Given the description of an element on the screen output the (x, y) to click on. 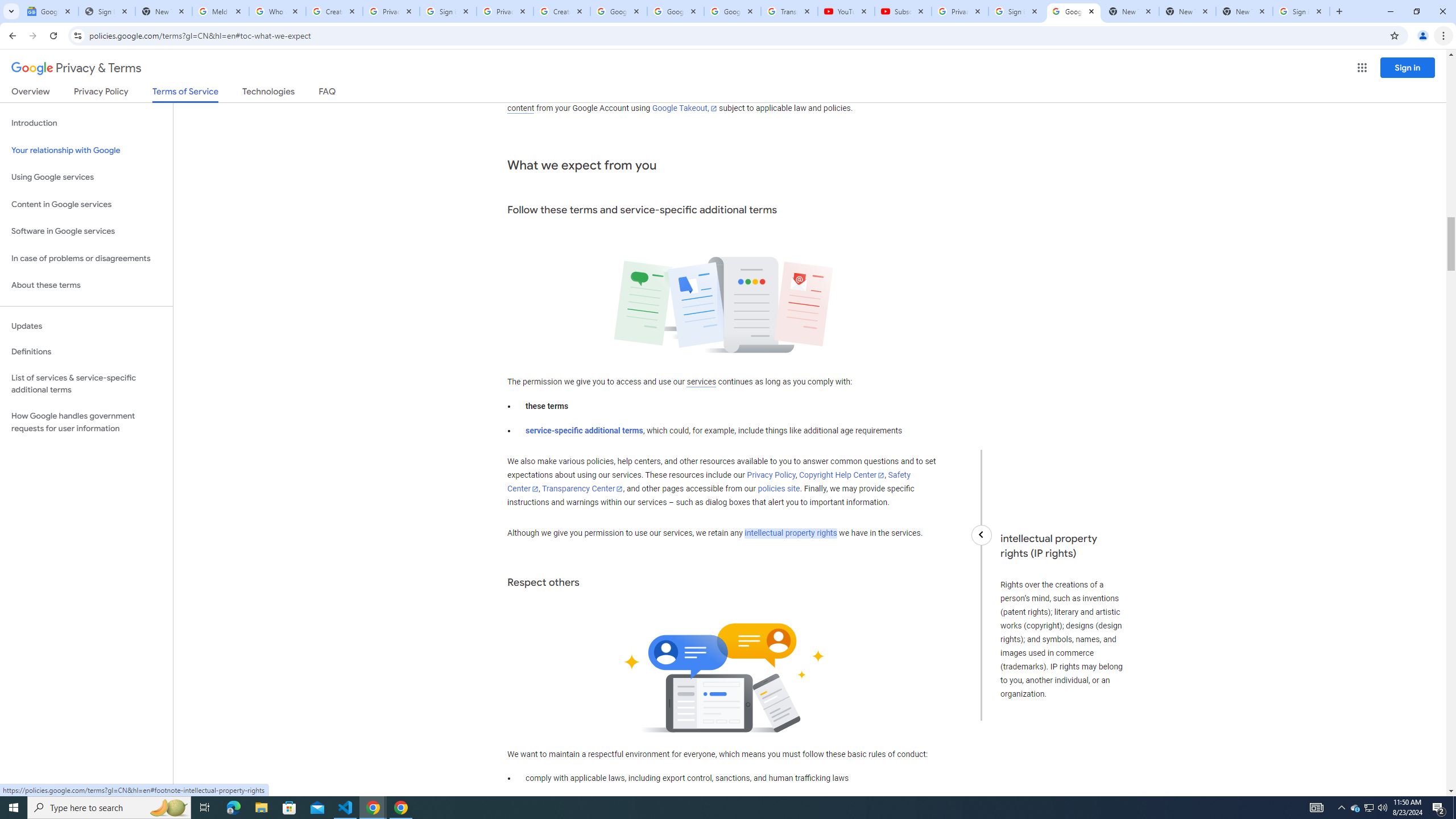
Google Takeout, (684, 108)
intellectual property rights (790, 533)
Sign in - Google Accounts (447, 11)
Updates (86, 325)
